Given the description of an element on the screen output the (x, y) to click on. 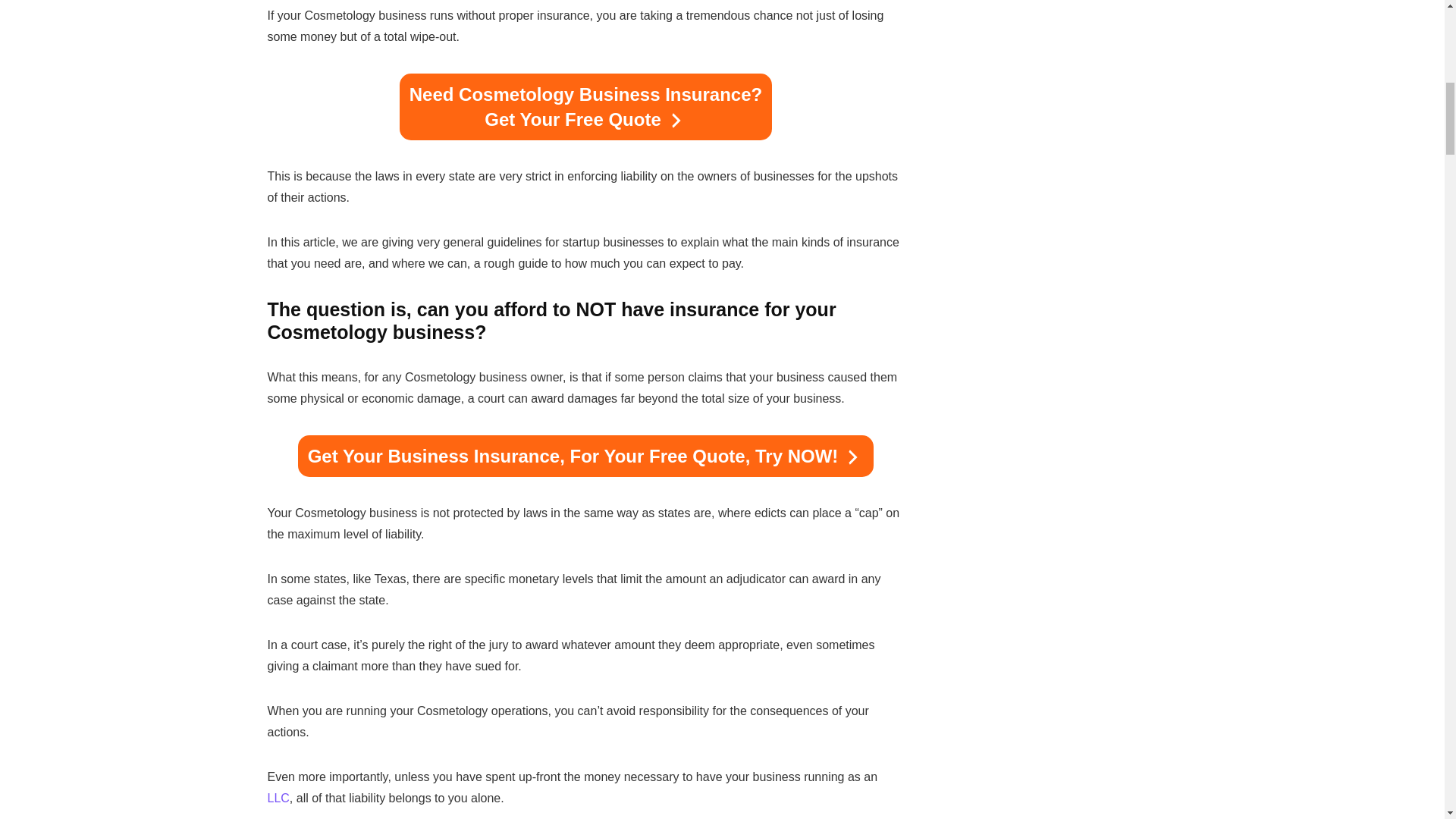
LLC (277, 797)
Get Your Business Insurance, For Your Free Quote, Try NOW! (586, 455)
